Given the description of an element on the screen output the (x, y) to click on. 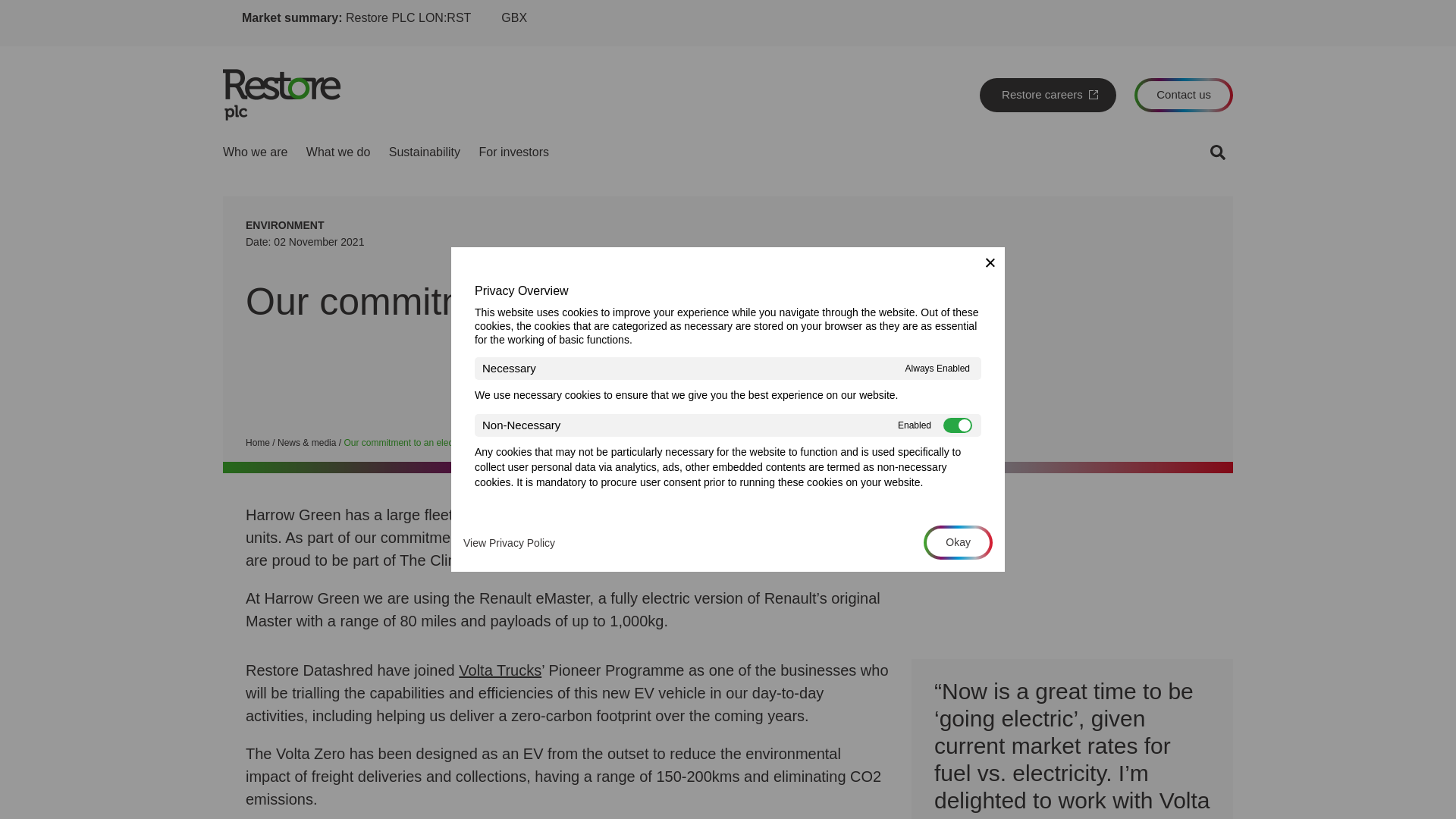
Who we are (254, 151)
For investors (513, 151)
Contact us (1183, 93)
Restore careers (1047, 93)
Sustainability (424, 151)
What we do (337, 151)
